Given the description of an element on the screen output the (x, y) to click on. 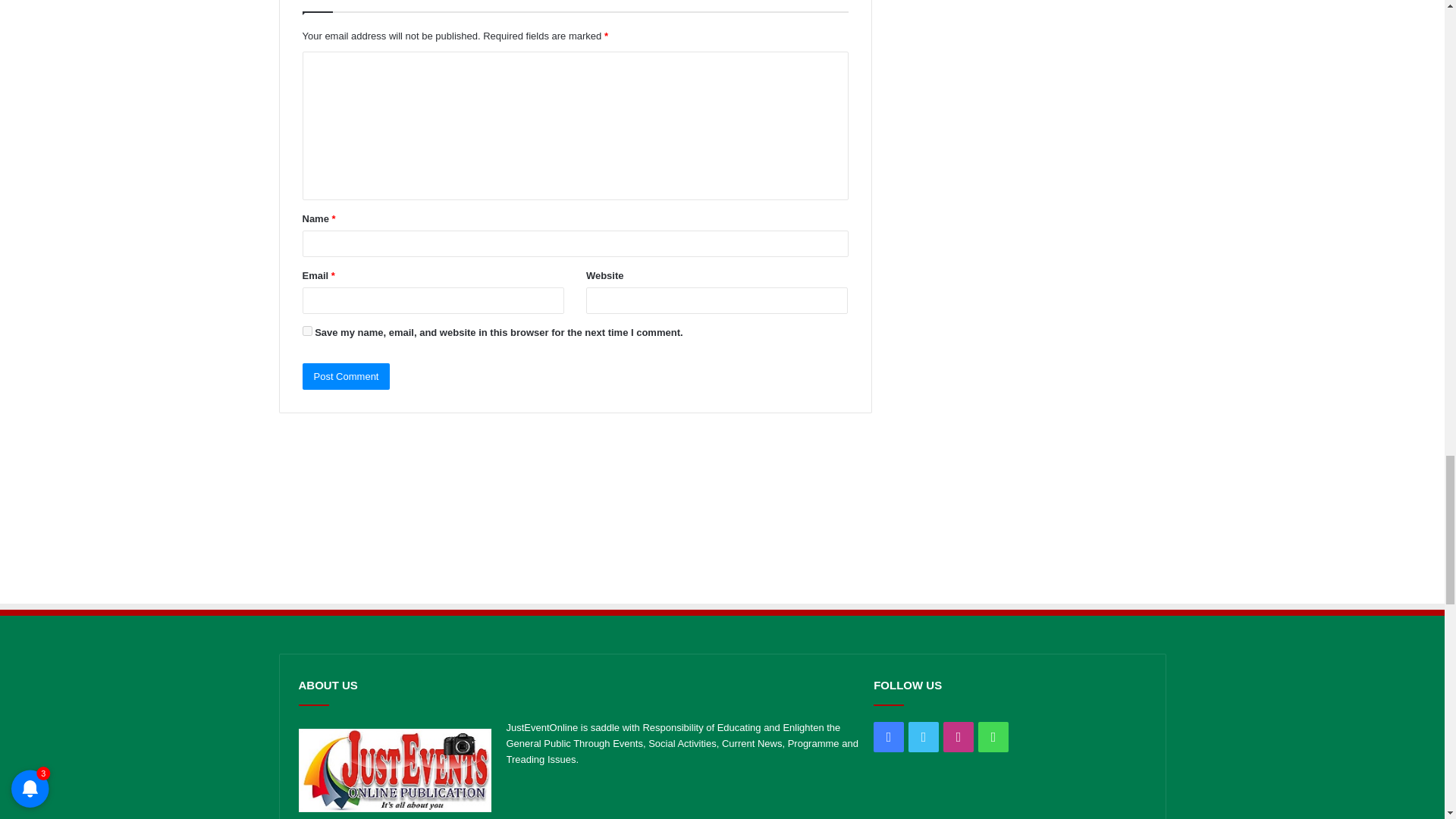
yes (306, 330)
Post Comment (345, 376)
